Given the description of an element on the screen output the (x, y) to click on. 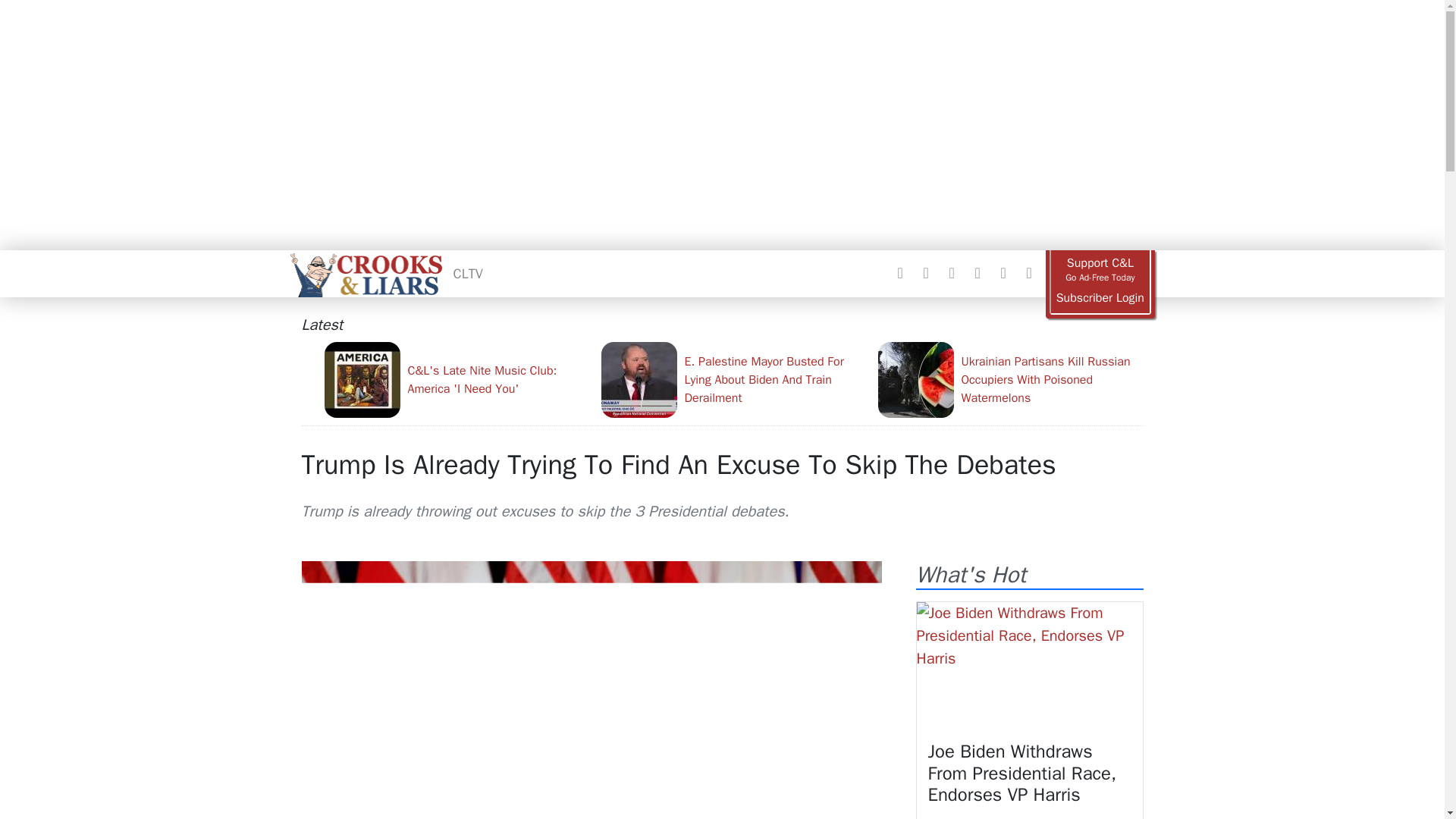
Go ad free today! (1099, 270)
Subscriber Login (1099, 298)
CLTV (467, 273)
Search (1029, 273)
Login to your ad free account (1099, 298)
Subscribe to our news letter (1002, 273)
